Given the description of an element on the screen output the (x, y) to click on. 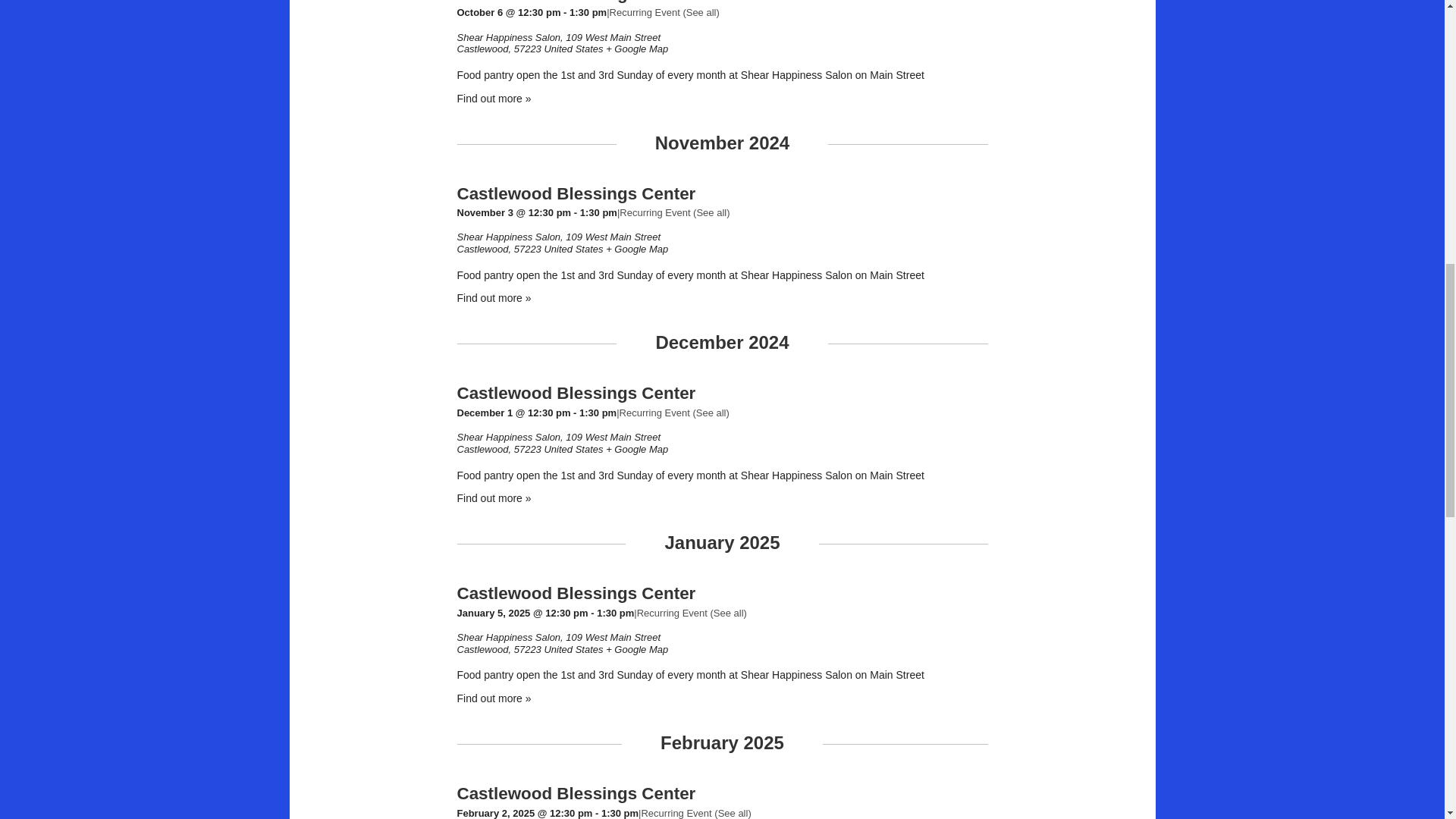
Shear Happiness Salon (508, 37)
Shear Happiness Salon (508, 236)
Castlewood Blessings Center (576, 193)
Click to view a Google Map (636, 248)
Castlewood Blessings Center (576, 1)
Click to view a Google Map (636, 48)
